Given the description of an element on the screen output the (x, y) to click on. 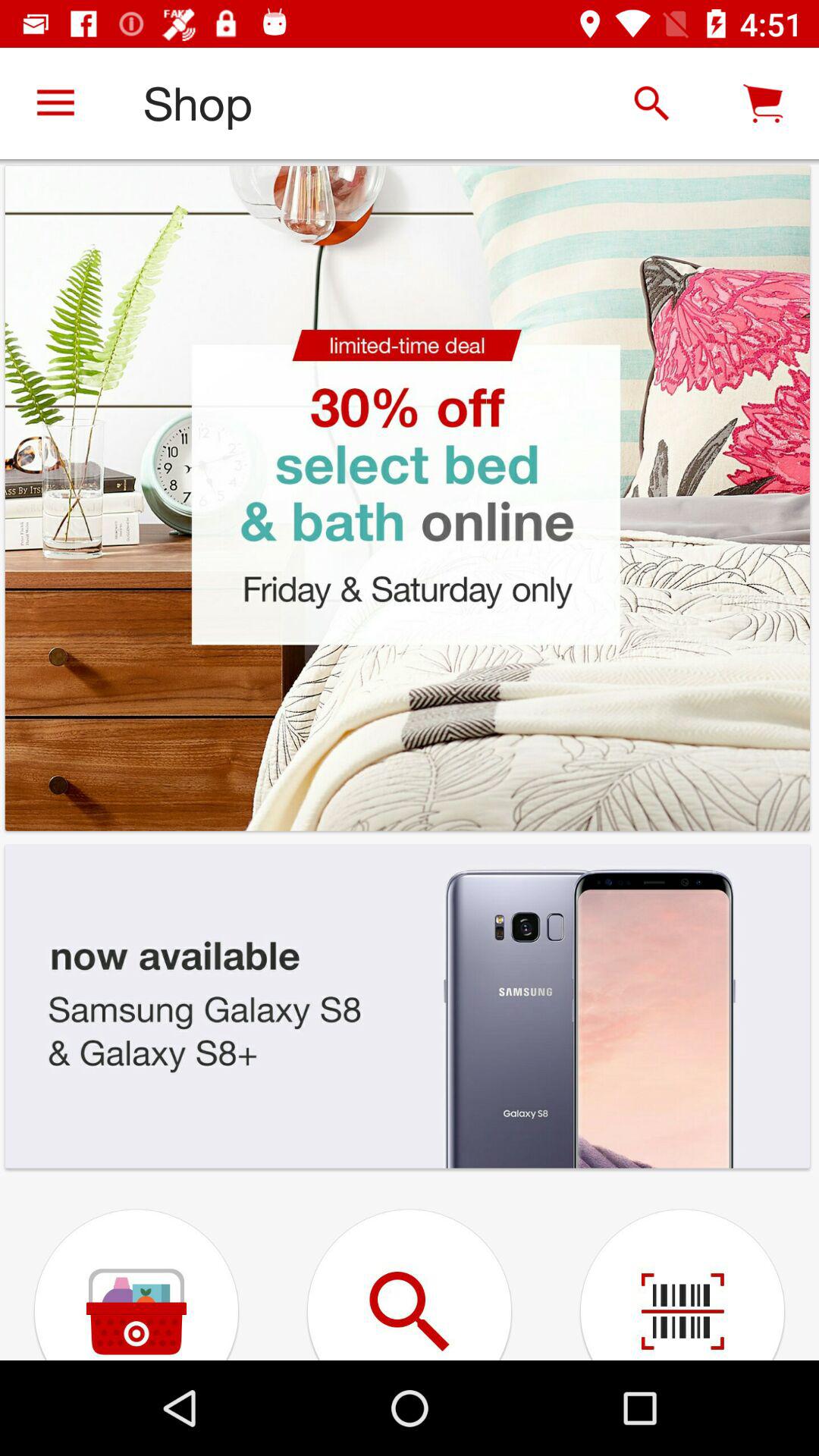
select the icon next to shop icon (55, 103)
